Given the description of an element on the screen output the (x, y) to click on. 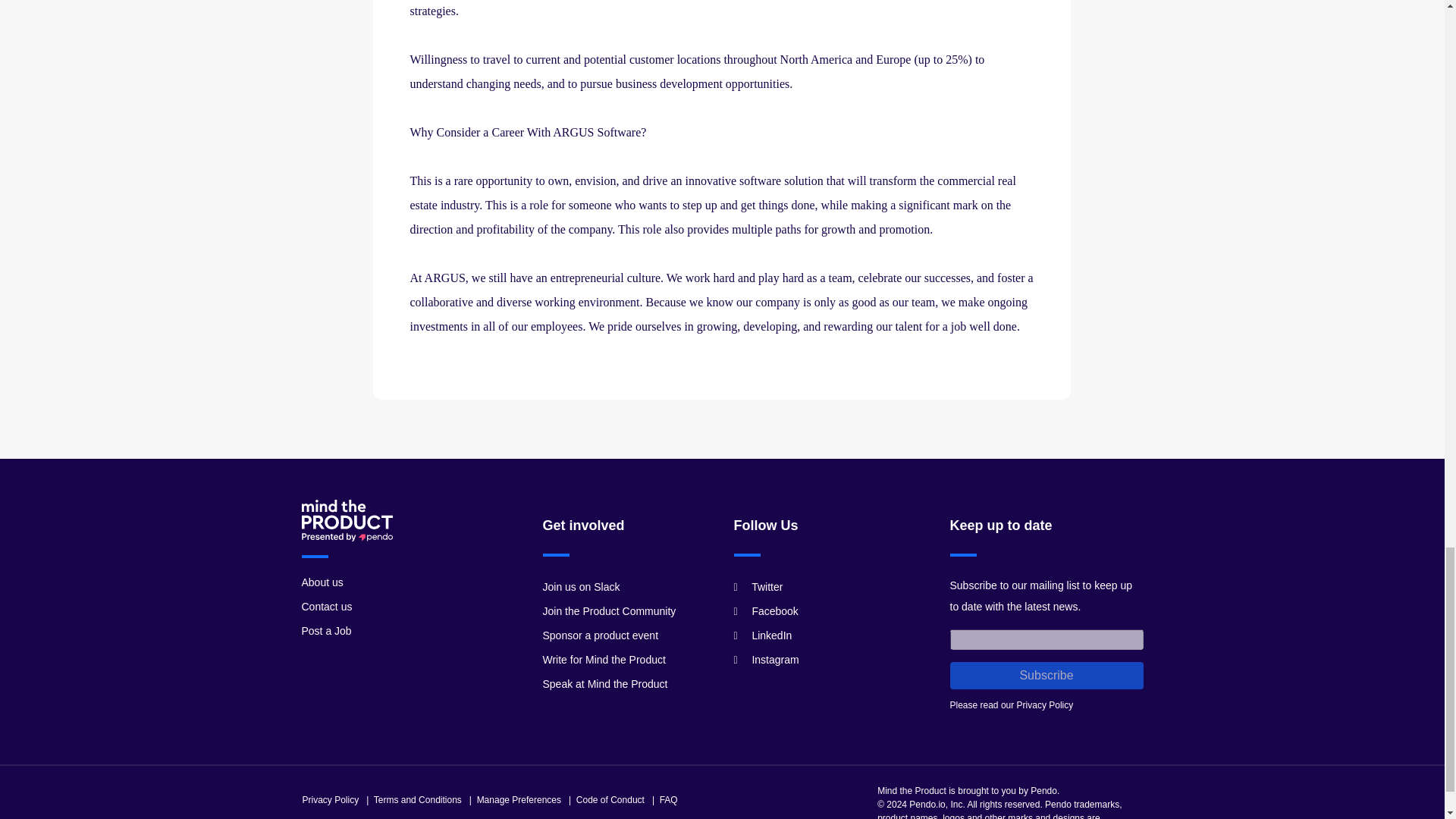
Join the Product Community (610, 611)
Mind The Product (347, 520)
Manage Preferences (518, 799)
Twitter (758, 586)
Terms and Conditions (417, 799)
Instagram (766, 659)
Sponsor a product event (601, 635)
Speak at Mind the Product (605, 684)
Facebook (765, 611)
About us (322, 582)
Subscribe (1045, 675)
Contact us (326, 606)
Subscribe (1045, 675)
Join us on Slack (581, 586)
LinkedIn (762, 635)
